Given the description of an element on the screen output the (x, y) to click on. 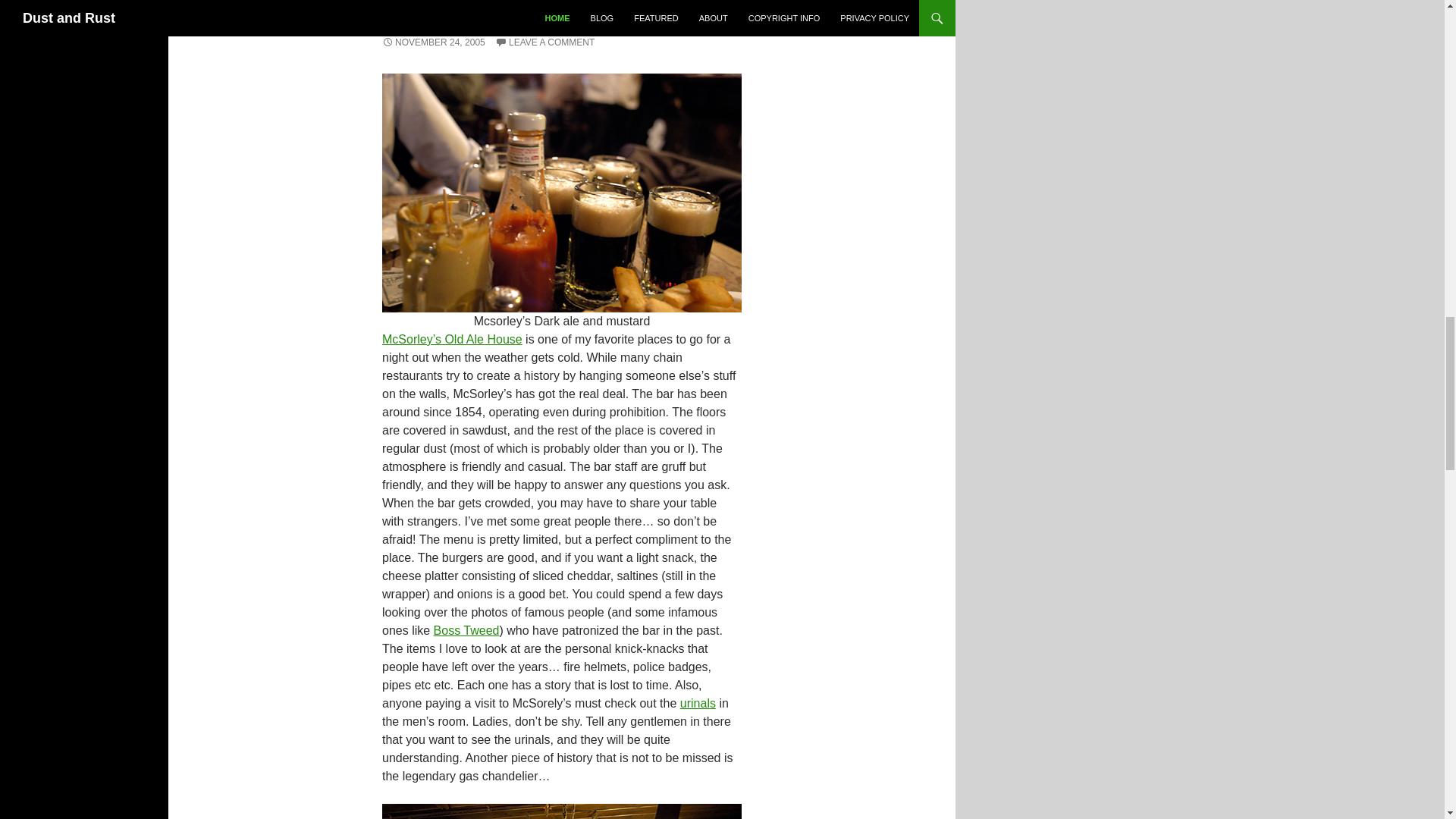
urinals (697, 703)
Boss Tweed (466, 630)
NOVEMBER 24, 2005 (432, 41)
LEAVE A COMMENT (544, 41)
Mcsorley's Dark ale and mustard (561, 192)
